Given the description of an element on the screen output the (x, y) to click on. 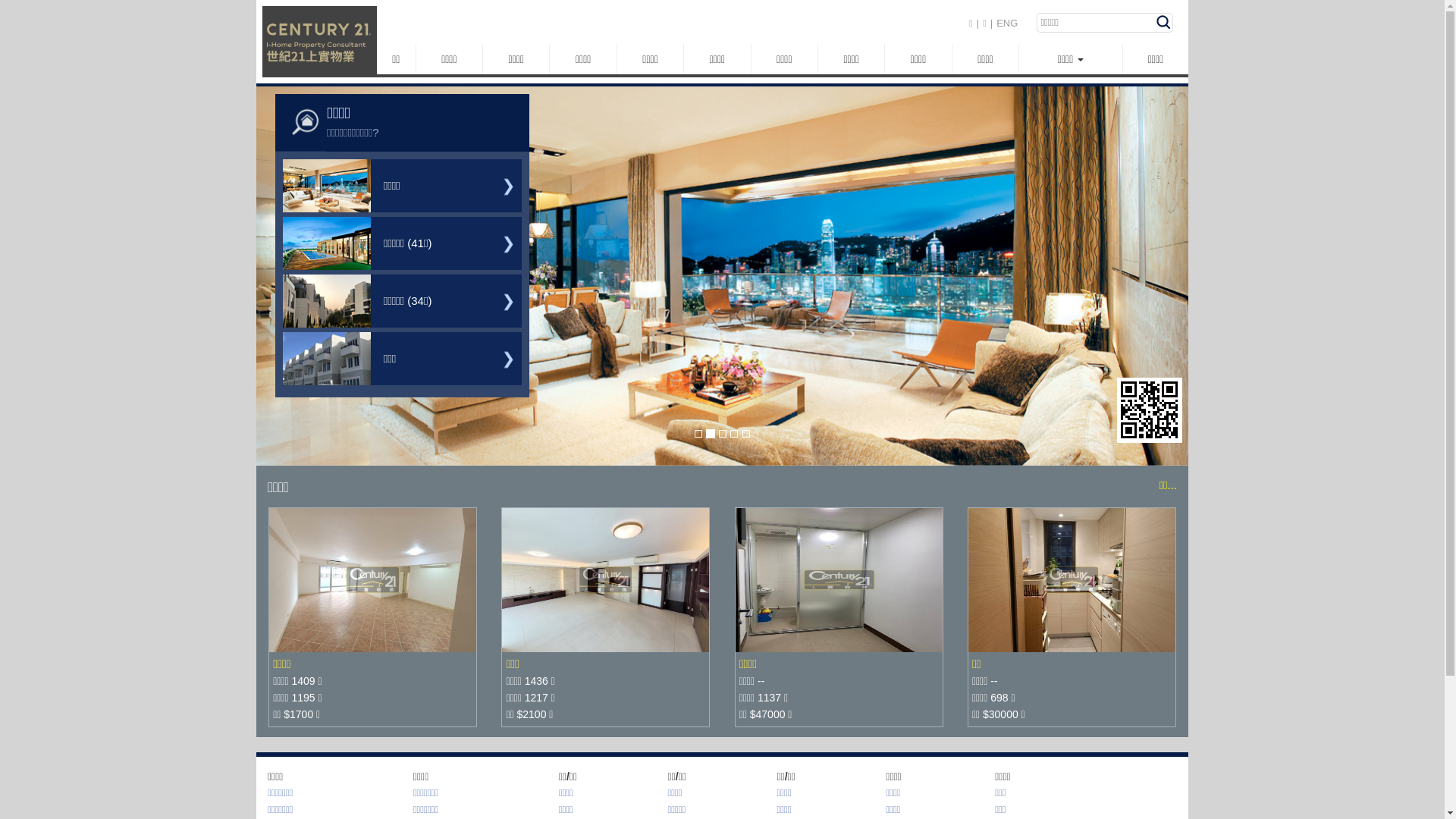
ENG Element type: text (1006, 22)
